Given the description of an element on the screen output the (x, y) to click on. 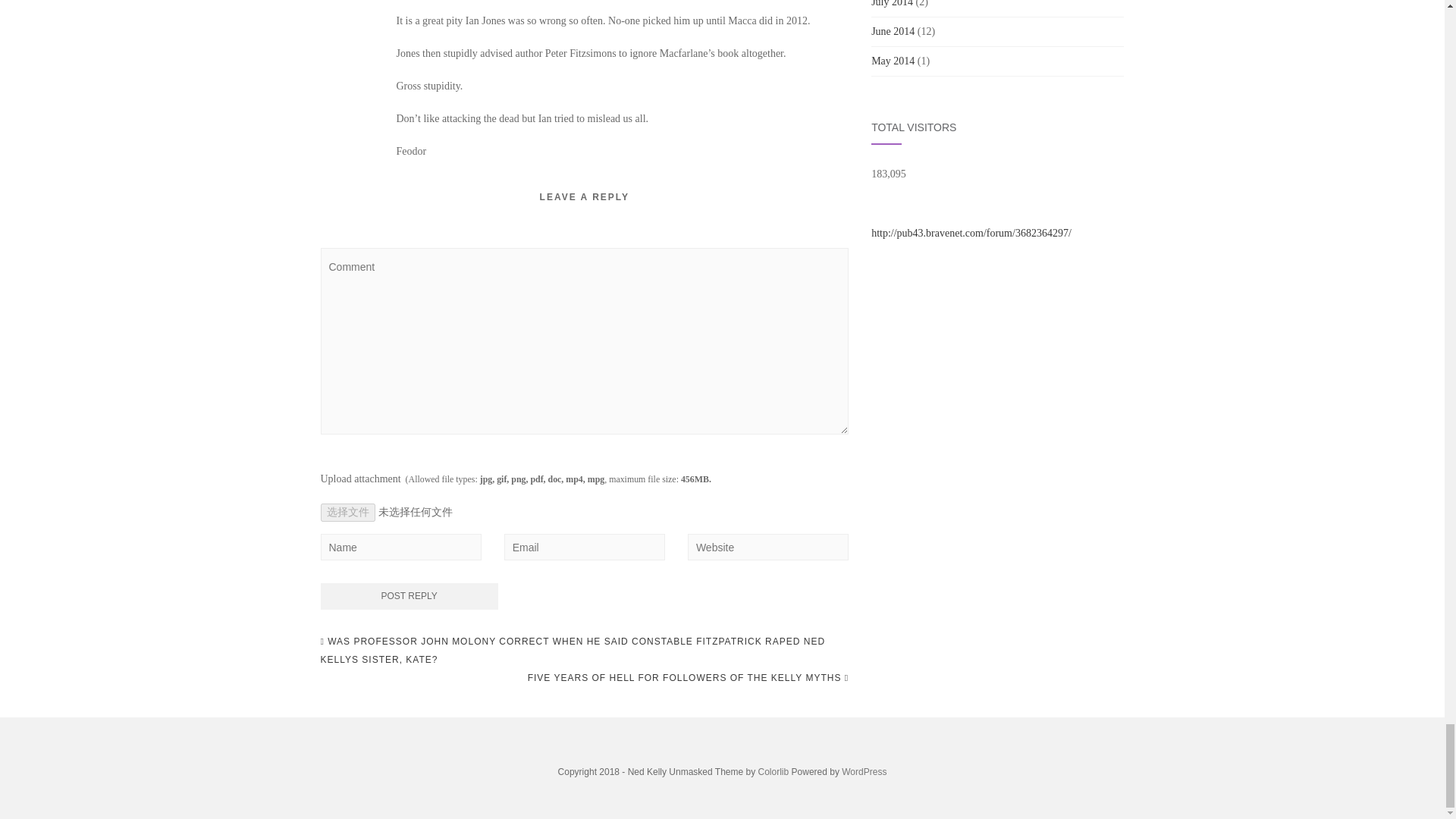
Post Reply (408, 596)
Post Reply (408, 596)
FIVE YEARS OF HELL FOR FOLLOWERS OF THE KELLY MYTHS (687, 678)
